Given the description of an element on the screen output the (x, y) to click on. 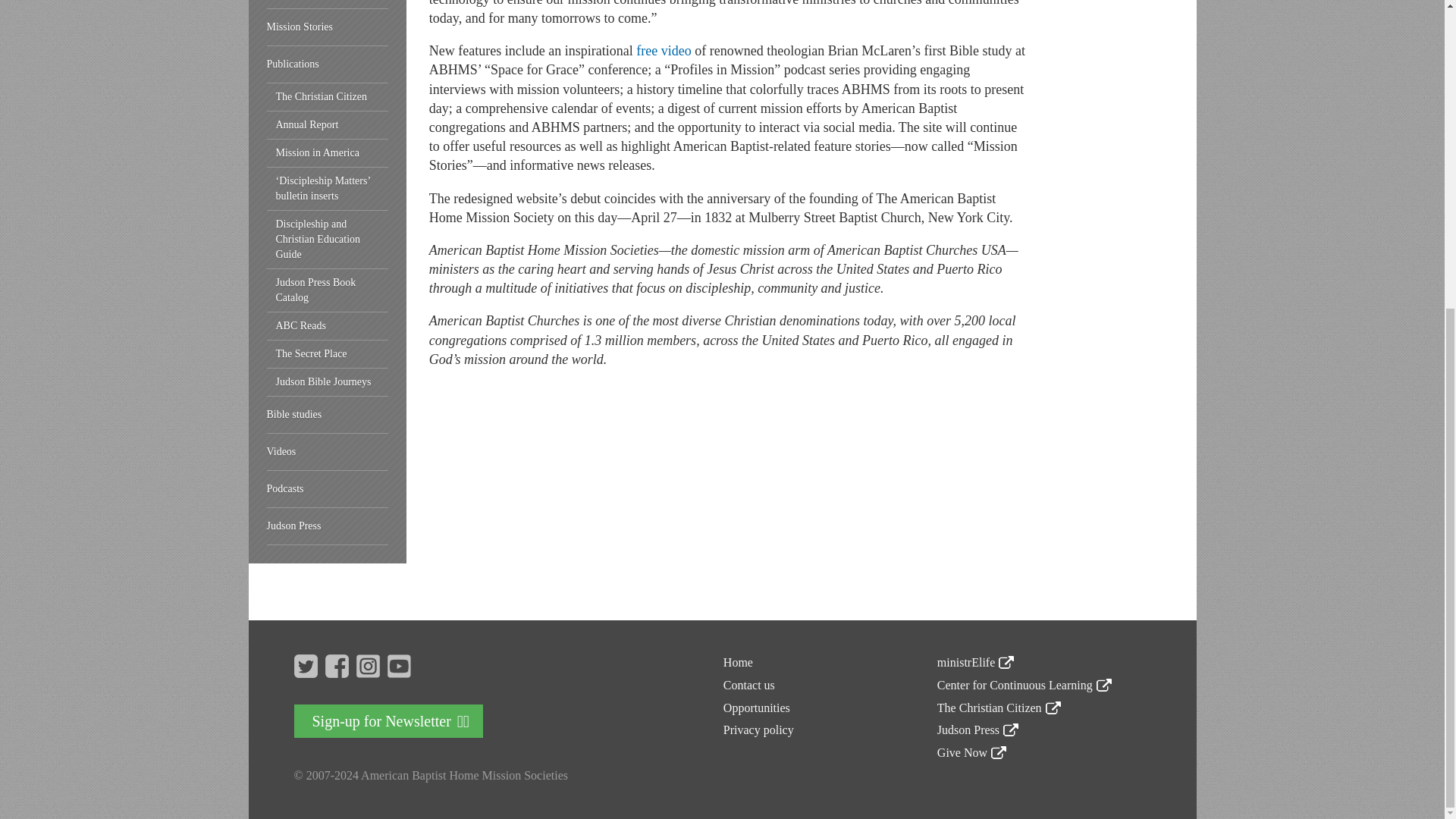
Publications (327, 64)
The Christian Citizen (327, 97)
Mission Stories (327, 27)
Judson Press Book Catalog (327, 290)
Discipleship and Christian Education Guide (327, 239)
ABC Reads (327, 326)
Annual Report (327, 125)
Judson Bible Journeys (327, 382)
Newsroom (327, 4)
The Secret Place (327, 354)
Mission in America (327, 153)
